Given the description of an element on the screen output the (x, y) to click on. 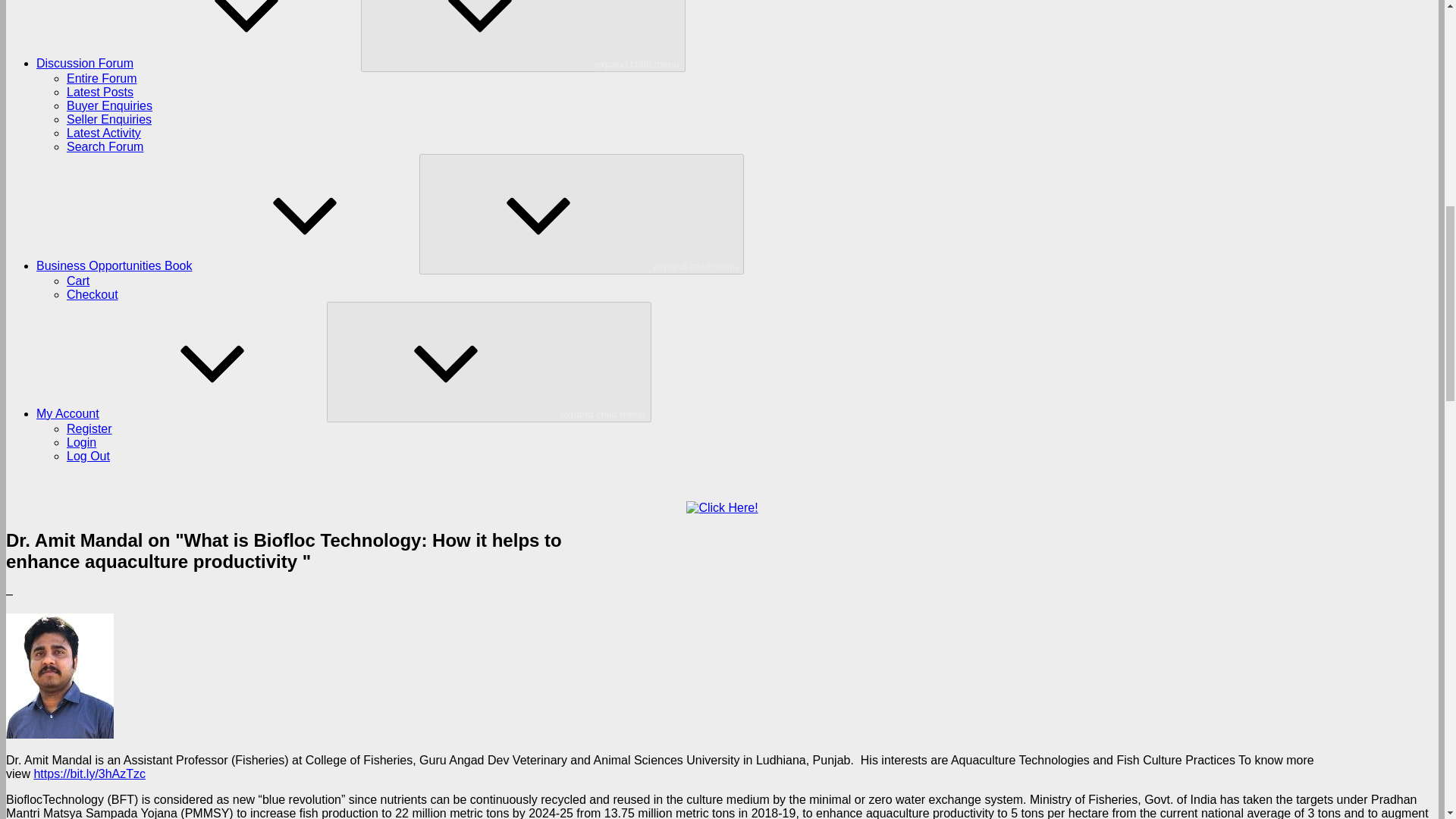
Login (81, 441)
Cart (77, 280)
My Account (181, 413)
Buyer Enquiries (109, 105)
Click Here! (721, 508)
Seller Enquiries (108, 119)
Search Forum (104, 146)
Entire Forum (101, 78)
Discussion Forum (198, 62)
Checkout (91, 294)
expand child menu (488, 362)
Latest Posts (99, 91)
Business Opportunities Book (227, 265)
expand child menu (523, 36)
Latest Activity (103, 132)
